Given the description of an element on the screen output the (x, y) to click on. 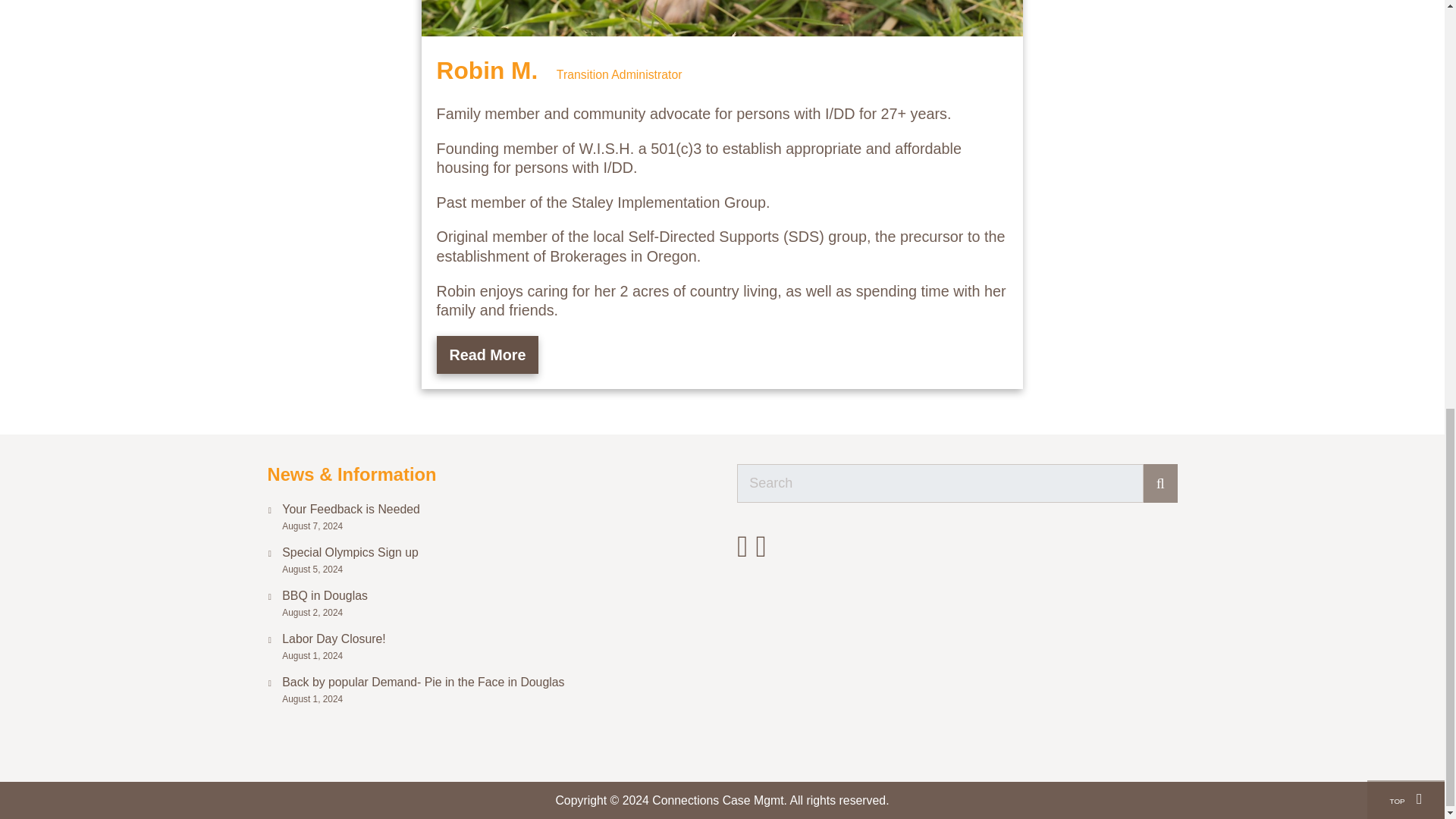
Labor Day Closure! (494, 639)
BBQ in Douglas (494, 596)
Your Feedback is Needed (494, 509)
Permalink to Robin M. (490, 70)
Transition Administrator (619, 74)
Back by popular Demand- Pie in the Face in Douglas (494, 682)
Special Olympics Sign up (494, 553)
